Given the description of an element on the screen output the (x, y) to click on. 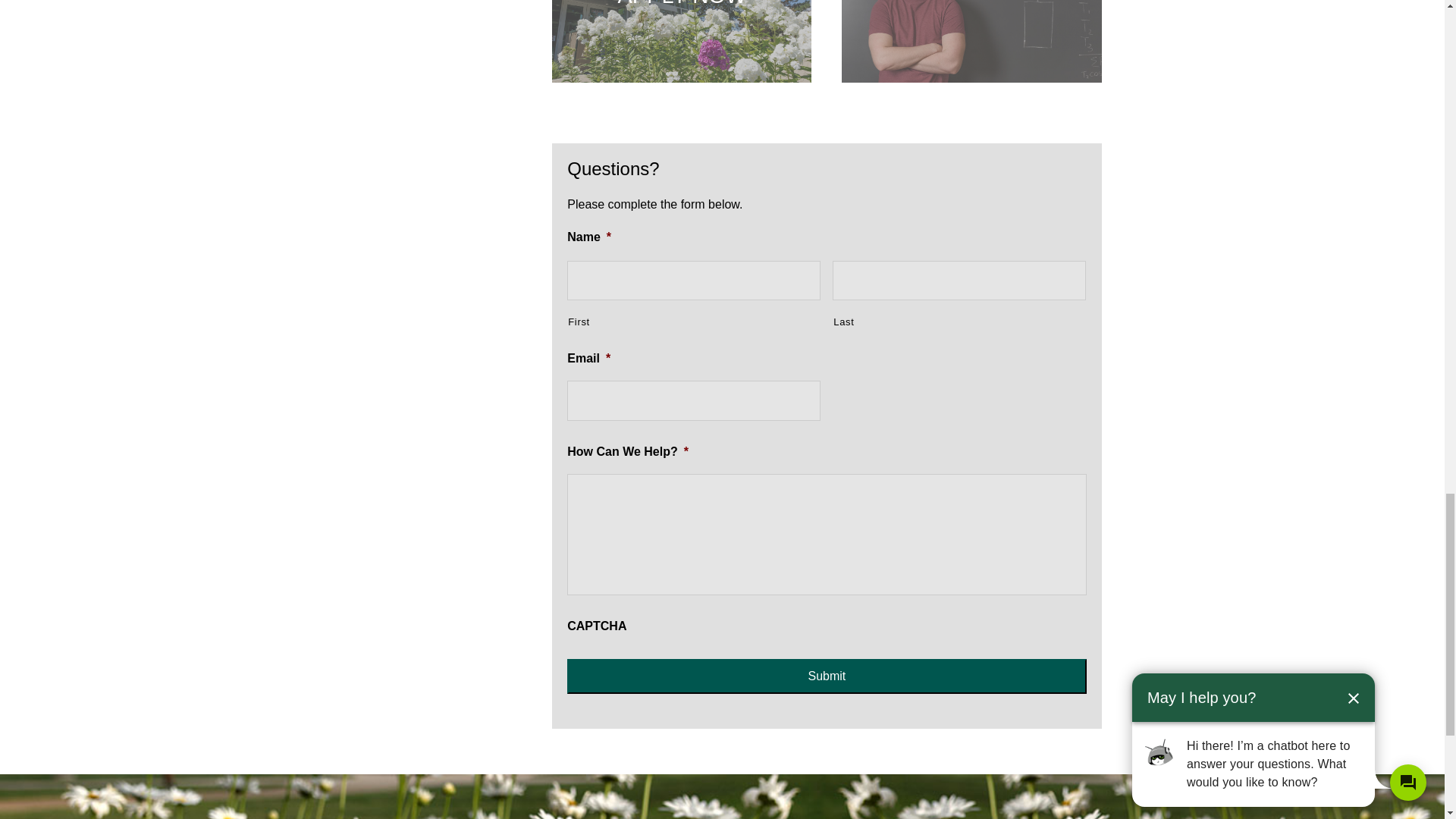
Submit (826, 676)
